Given the description of an element on the screen output the (x, y) to click on. 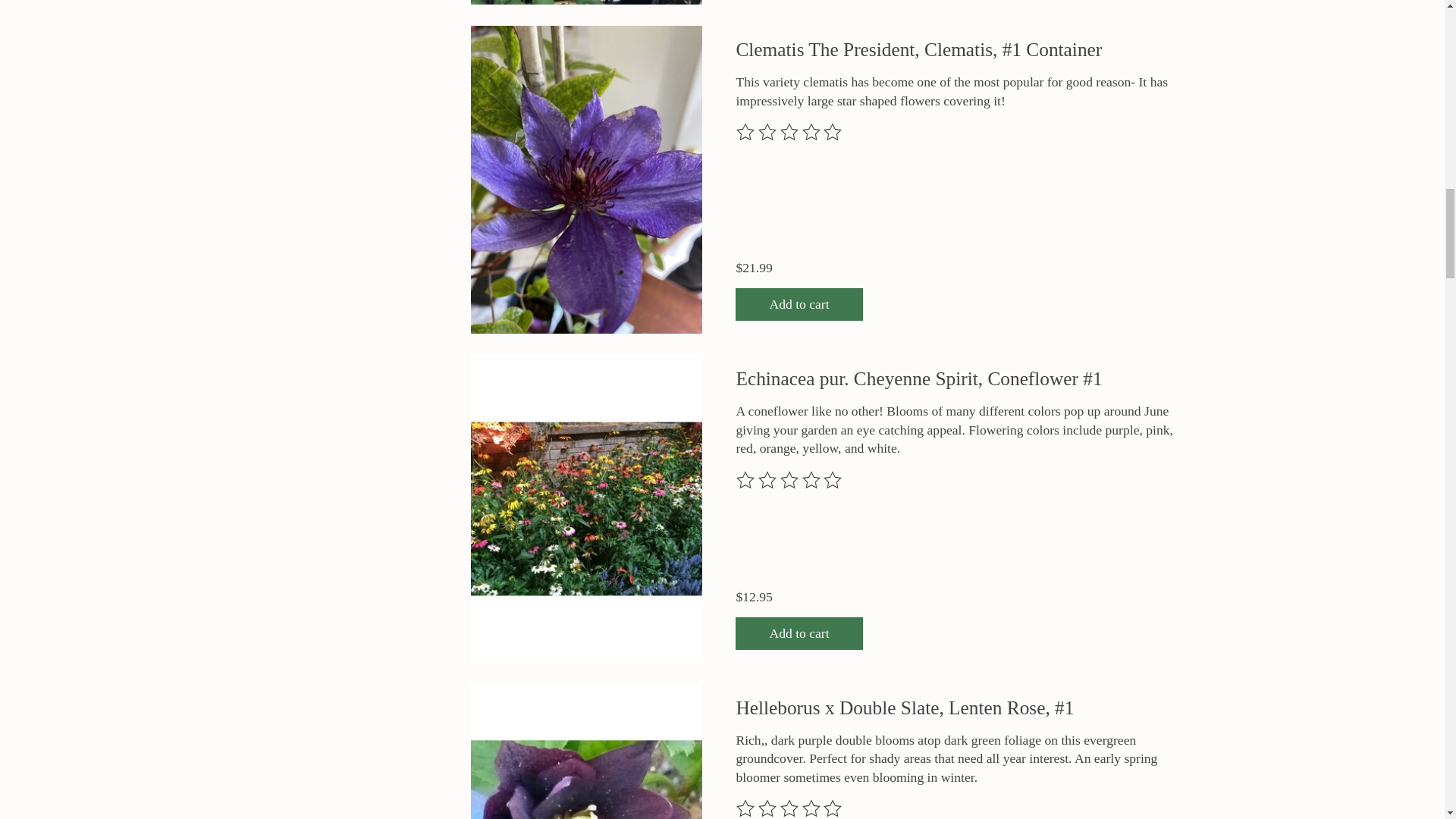
0 (321, 335)
50 (321, 335)
